Given the description of an element on the screen output the (x, y) to click on. 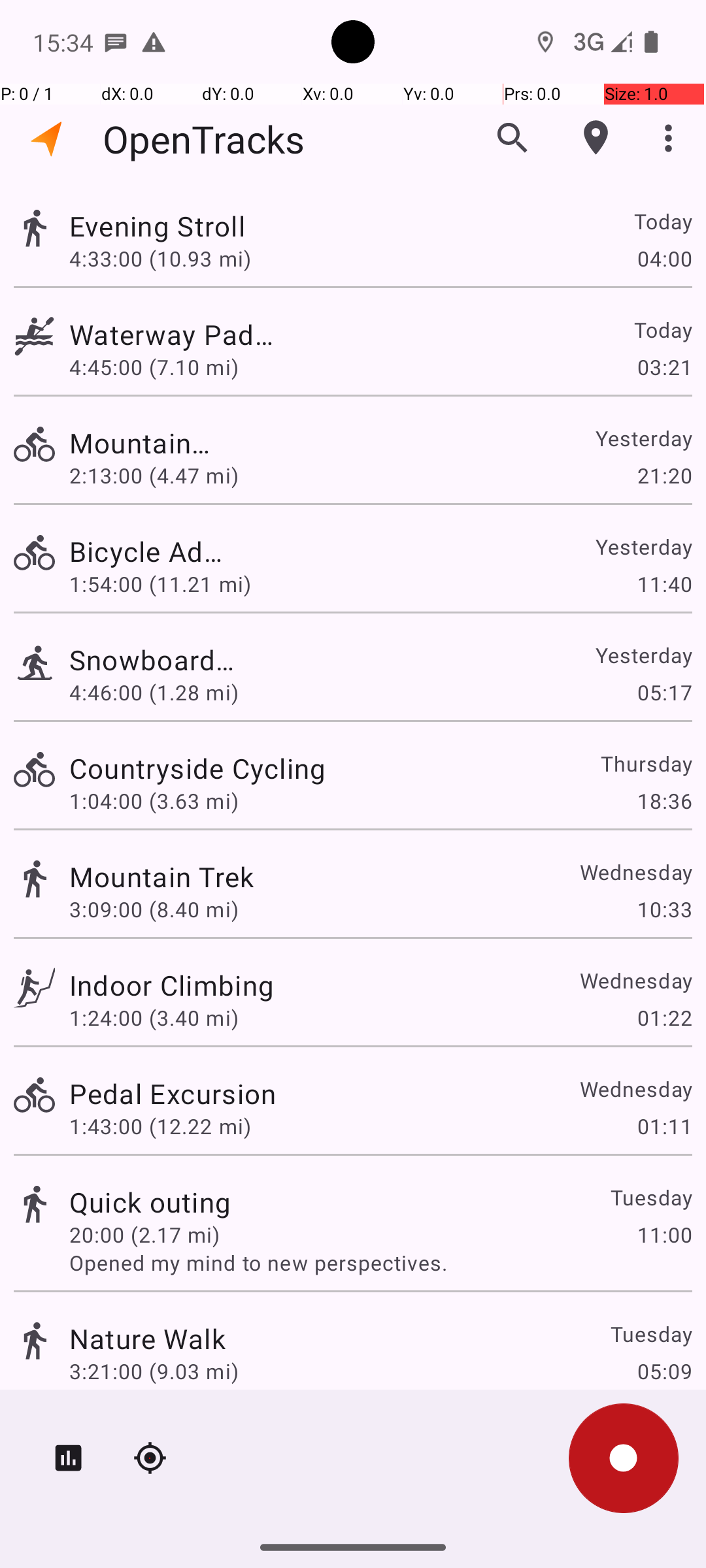
Evening Stroll Element type: android.widget.TextView (171, 225)
4:33:00 (10.93 mi) Element type: android.widget.TextView (159, 258)
04:00 Element type: android.widget.TextView (664, 258)
Waterway Paddle Element type: android.widget.TextView (172, 333)
4:45:00 (7.10 mi) Element type: android.widget.TextView (159, 366)
03:21 Element type: android.widget.TextView (664, 366)
Mountain Biking Element type: android.widget.TextView (149, 442)
Yesterday Element type: android.widget.TextView (643, 438)
2:13:00 (4.47 mi) Element type: android.widget.TextView (153, 475)
21:20 Element type: android.widget.TextView (664, 475)
Bicycle Adventure Element type: android.widget.TextView (147, 550)
1:54:00 (11.21 mi) Element type: android.widget.TextView (159, 583)
11:40 Element type: android.widget.TextView (664, 583)
Snowboard Trek Element type: android.widget.TextView (152, 659)
4:46:00 (1.28 mi) Element type: android.widget.TextView (153, 692)
05:17 Element type: android.widget.TextView (664, 692)
Countryside Cycling Element type: android.widget.TextView (197, 767)
1:04:00 (3.63 mi) Element type: android.widget.TextView (153, 800)
18:36 Element type: android.widget.TextView (664, 800)
Mountain Trek Element type: android.widget.TextView (161, 876)
Wednesday Element type: android.widget.TextView (635, 871)
3:09:00 (8.40 mi) Element type: android.widget.TextView (153, 909)
10:33 Element type: android.widget.TextView (664, 909)
Indoor Climbing Element type: android.widget.TextView (171, 984)
1:24:00 (3.40 mi) Element type: android.widget.TextView (153, 1017)
01:22 Element type: android.widget.TextView (664, 1017)
Pedal Excursion Element type: android.widget.TextView (172, 1092)
1:43:00 (12.22 mi) Element type: android.widget.TextView (159, 1125)
01:11 Element type: android.widget.TextView (664, 1125)
Quick outing Element type: android.widget.TextView (149, 1201)
Tuesday Element type: android.widget.TextView (650, 1197)
20:00 (2.17 mi) Element type: android.widget.TextView (144, 1234)
11:00 Element type: android.widget.TextView (664, 1234)
Opened my mind to new perspectives. Element type: android.widget.TextView (380, 1262)
Nature Walk Element type: android.widget.TextView (147, 1337)
3:21:00 (9.03 mi) Element type: android.widget.TextView (153, 1370)
05:09 Element type: android.widget.TextView (664, 1370)
